Given the description of an element on the screen output the (x, y) to click on. 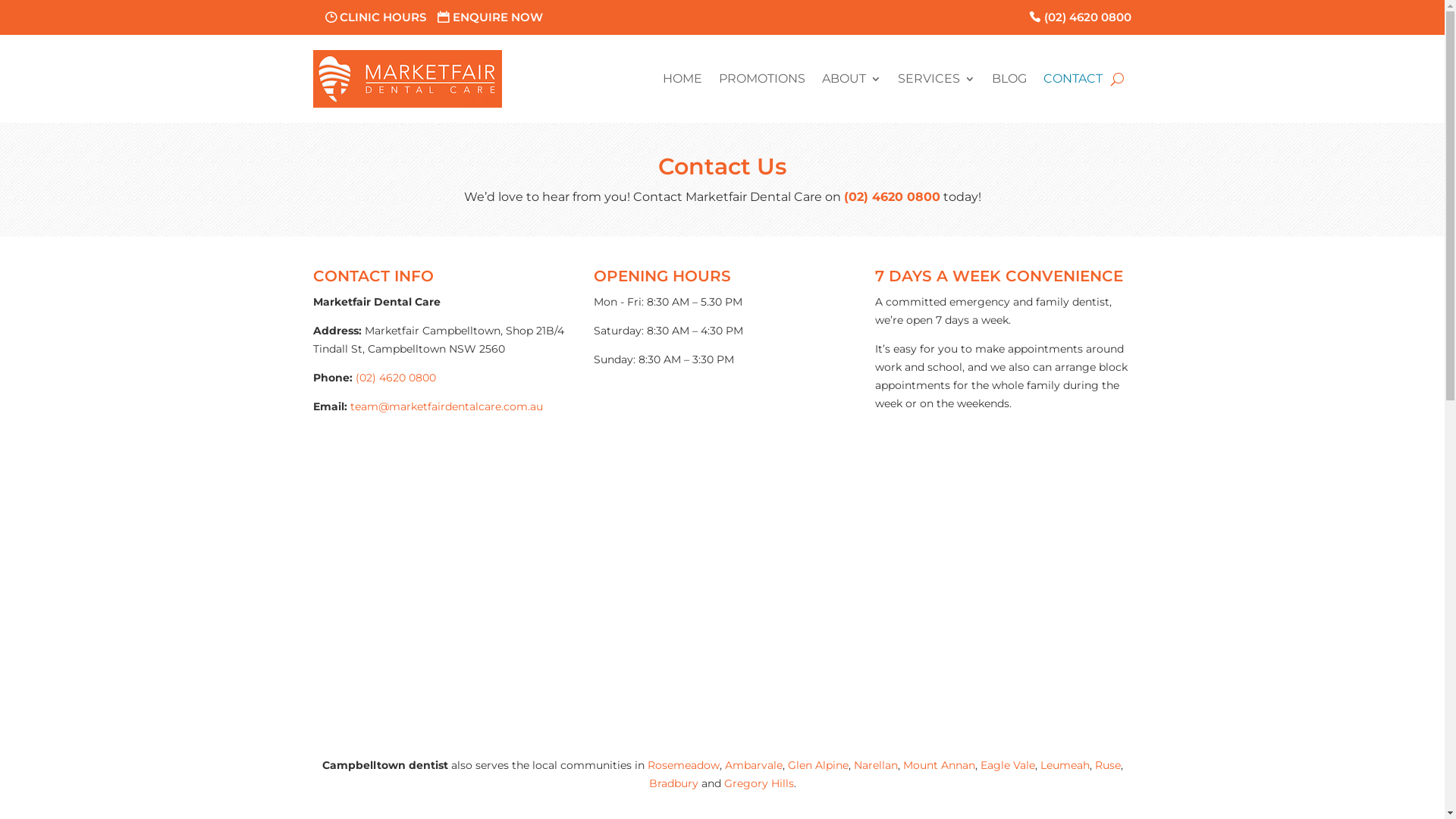
PROMOTIONS Element type: text (761, 78)
Mount Annan Element type: text (938, 764)
Ambarvale Element type: text (753, 764)
(02) 4620 0800 Element type: text (891, 196)
(02) 4620 0800 Element type: text (394, 377)
BLOG Element type: text (1008, 78)
Leumeah Element type: text (1064, 764)
SERVICES Element type: text (936, 78)
Glen Alpine Element type: text (817, 764)
Narellan Element type: text (875, 764)
CONTACT Element type: text (1072, 78)
ENQUIRE NOW Element type: text (489, 16)
CLINIC HOURS Element type: text (375, 16)
(02) 4620 0800 Element type: text (1080, 16)
Gregory Hills Element type: text (758, 783)
Rosemeadow Element type: text (683, 764)
team@marketfairdentalcare.com.au Element type: text (446, 406)
ABOUT Element type: text (851, 78)
HOME Element type: text (682, 78)
Eagle Vale Element type: text (1006, 764)
Ruse Element type: text (1107, 764)
Bradbury Element type: text (673, 783)
